Given the description of an element on the screen output the (x, y) to click on. 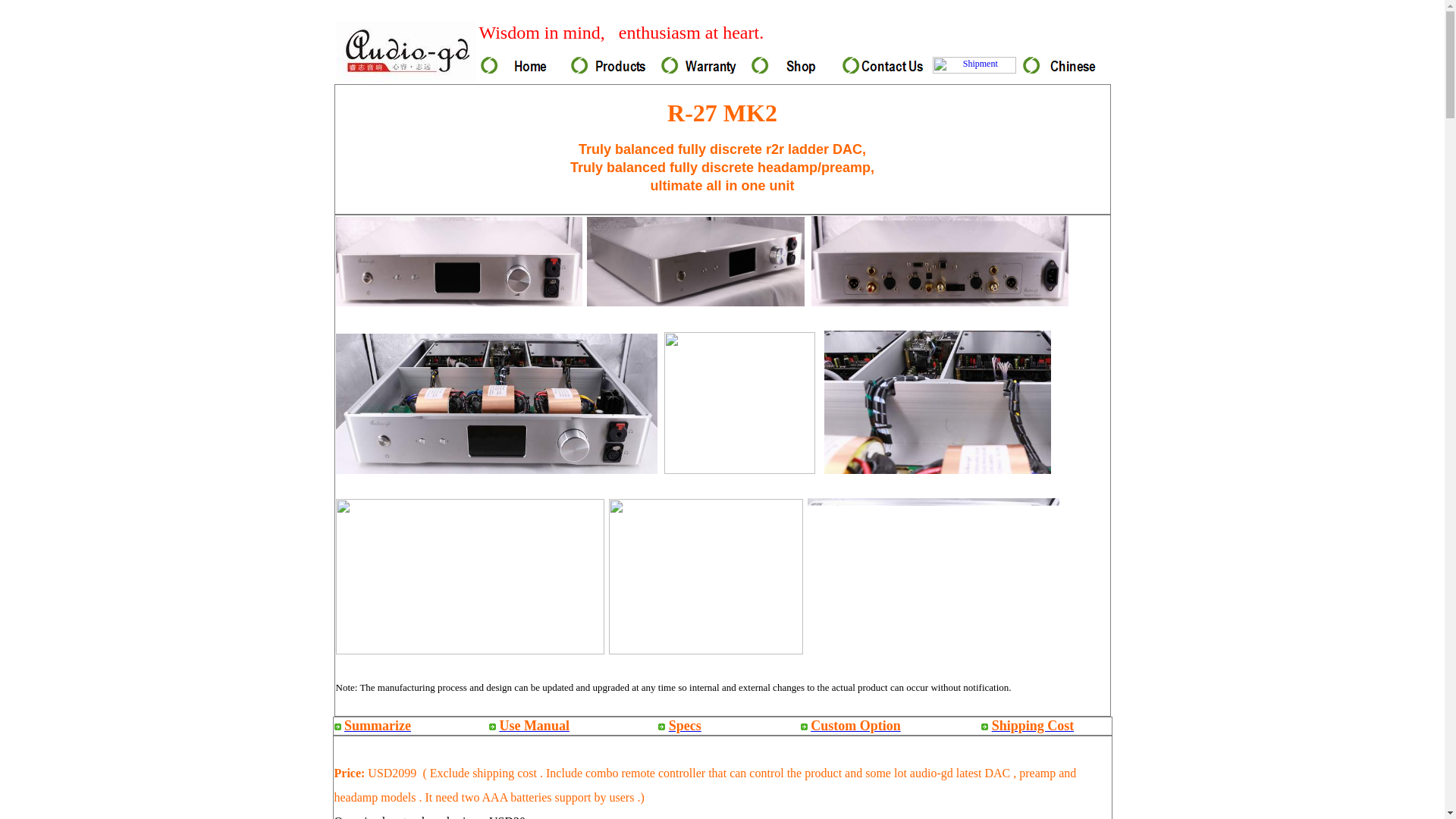
Custom Option (855, 725)
Use Manual (534, 725)
Shipping Cost (1032, 725)
Specs (684, 725)
Summarize (376, 725)
